Given the description of an element on the screen output the (x, y) to click on. 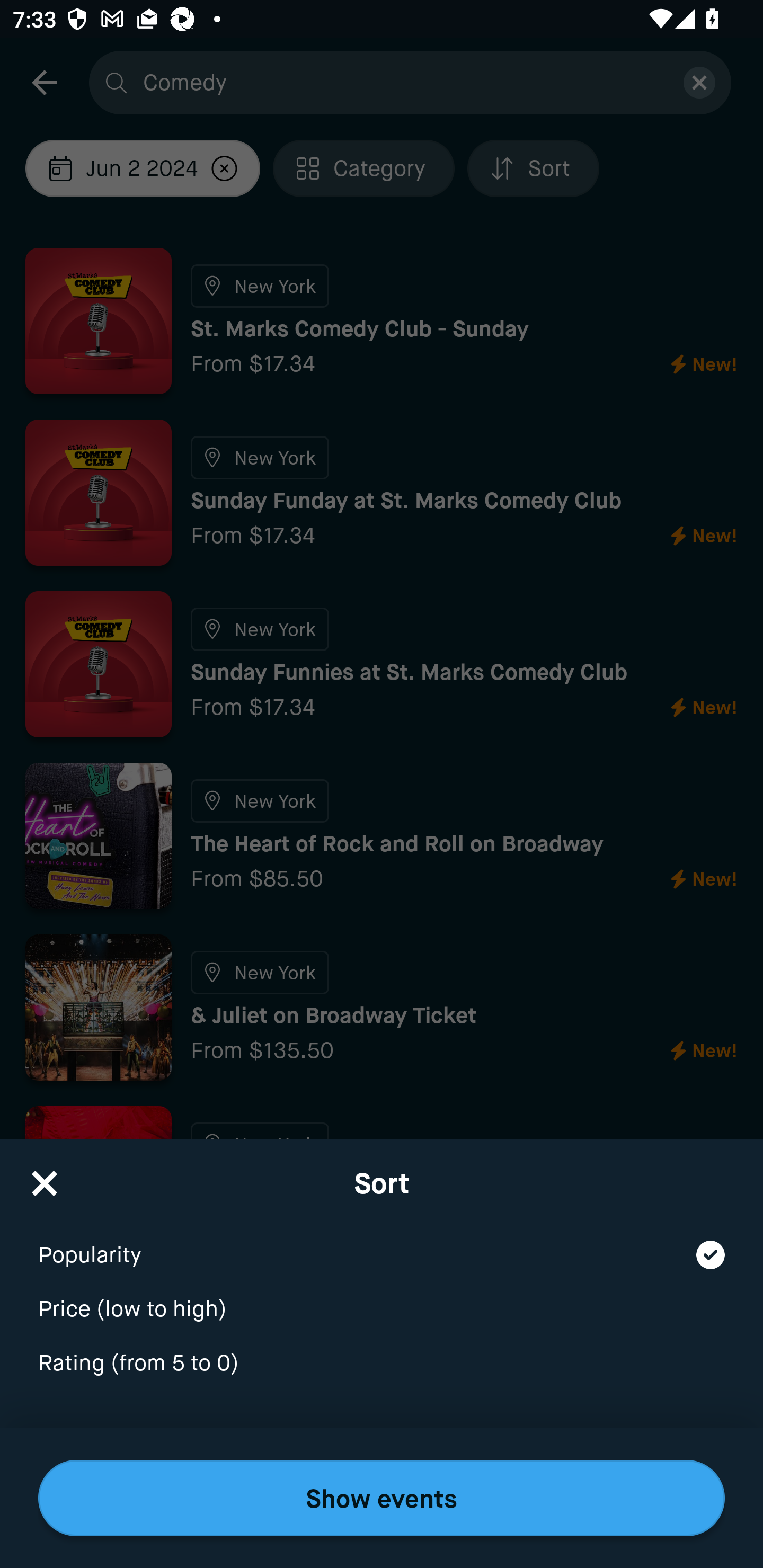
CloseButton (44, 1177)
Popularity Selected Icon (381, 1243)
Price (low to high) (381, 1297)
Rating (from 5 to 0) (381, 1362)
Show events (381, 1497)
